Given the description of an element on the screen output the (x, y) to click on. 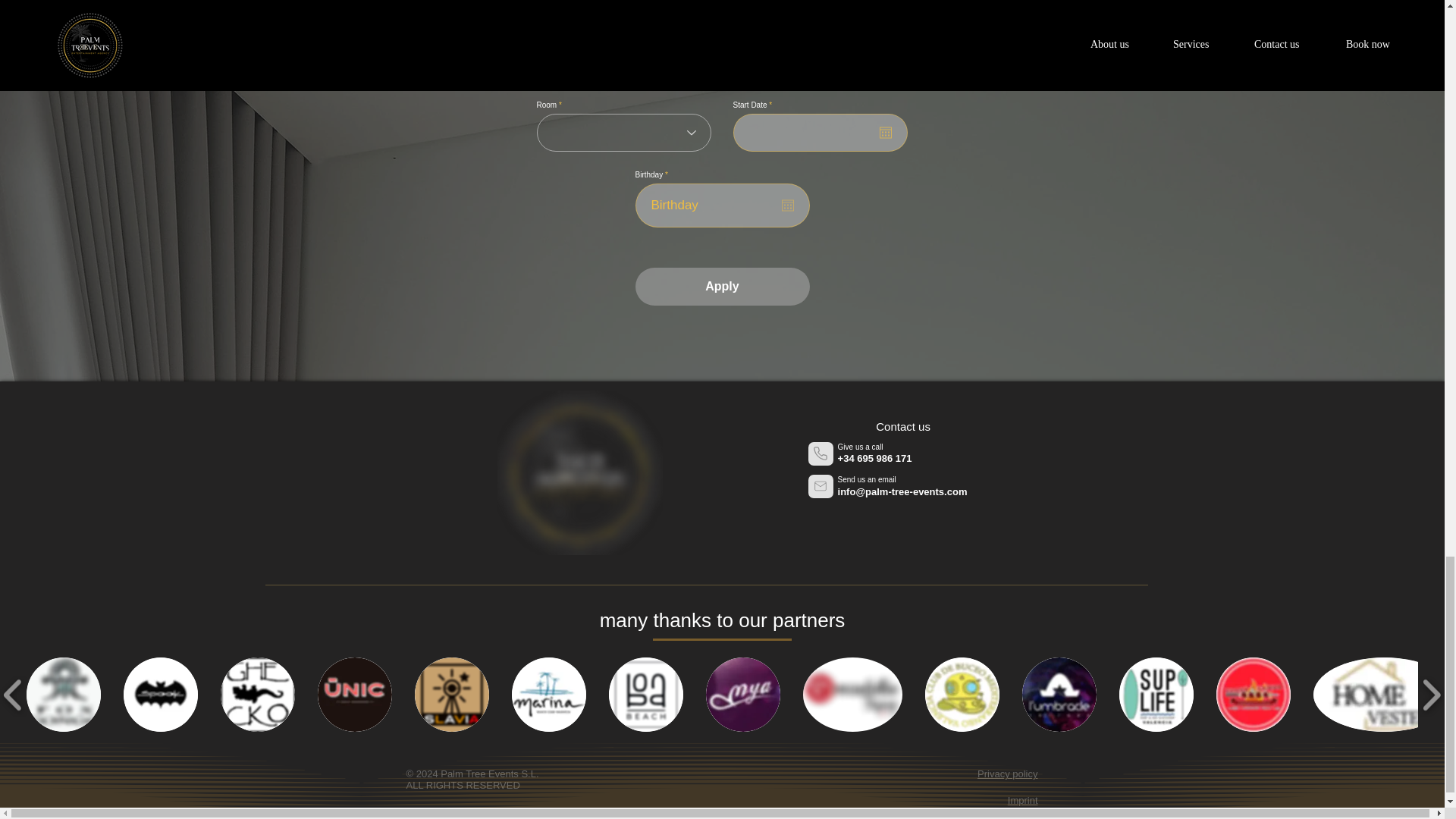
Apply (721, 286)
Imprint (1022, 799)
Privacy policy (1006, 773)
